Given the description of an element on the screen output the (x, y) to click on. 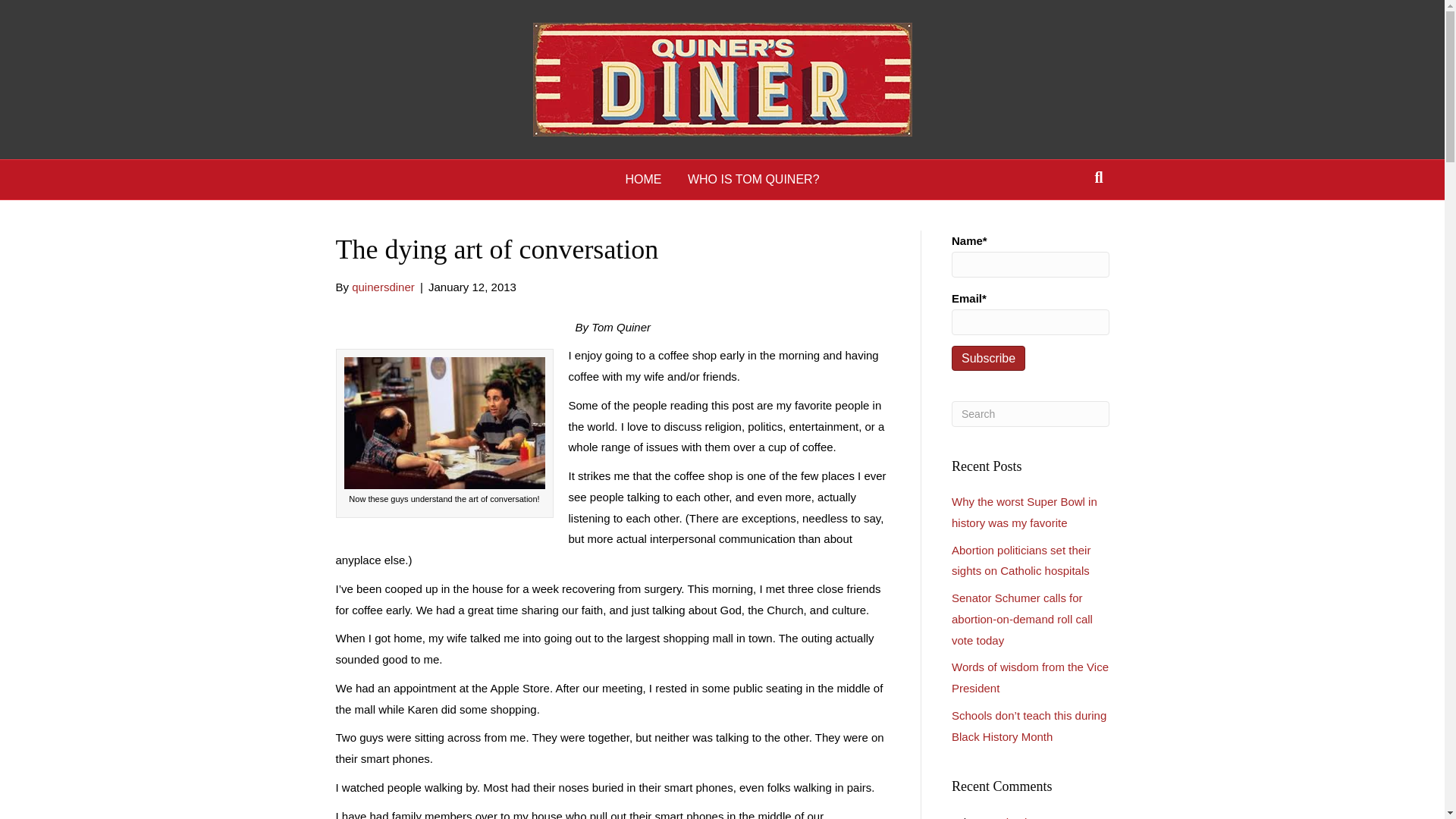
Why the worst Super Bowl in history was my favorite (1024, 512)
HOME (642, 179)
WHO IS TOM QUINER? (754, 179)
Subscribe (988, 358)
quinersdiner (383, 286)
Abortion politicians set their sights on Catholic hospitals (1021, 560)
Subscribe (988, 358)
Words of wisdom from the Vice President (1030, 677)
Type and press Enter to search. (1030, 413)
Why the worst Super Bowl in history was my favorite (1029, 817)
